Given the description of an element on the screen output the (x, y) to click on. 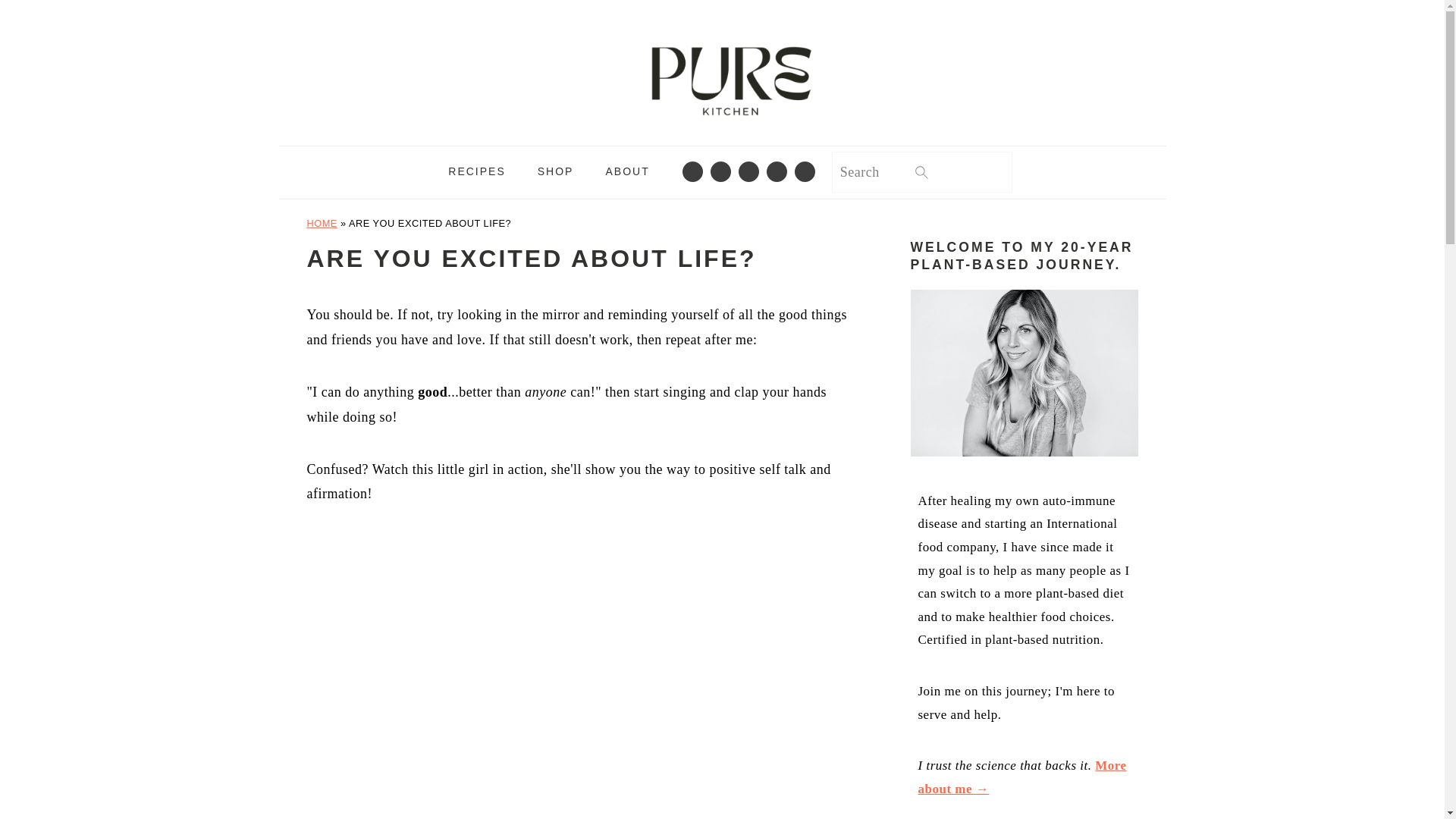
Instagram (748, 171)
Instagram (749, 171)
Pinterest (776, 171)
Facebook (720, 171)
Pure Kitchen (722, 69)
Pinterest (776, 171)
Email (692, 171)
RECIPES (476, 173)
ABOUT (627, 173)
Pure Kitchen (722, 133)
YouTube (804, 171)
